Given the description of an element on the screen output the (x, y) to click on. 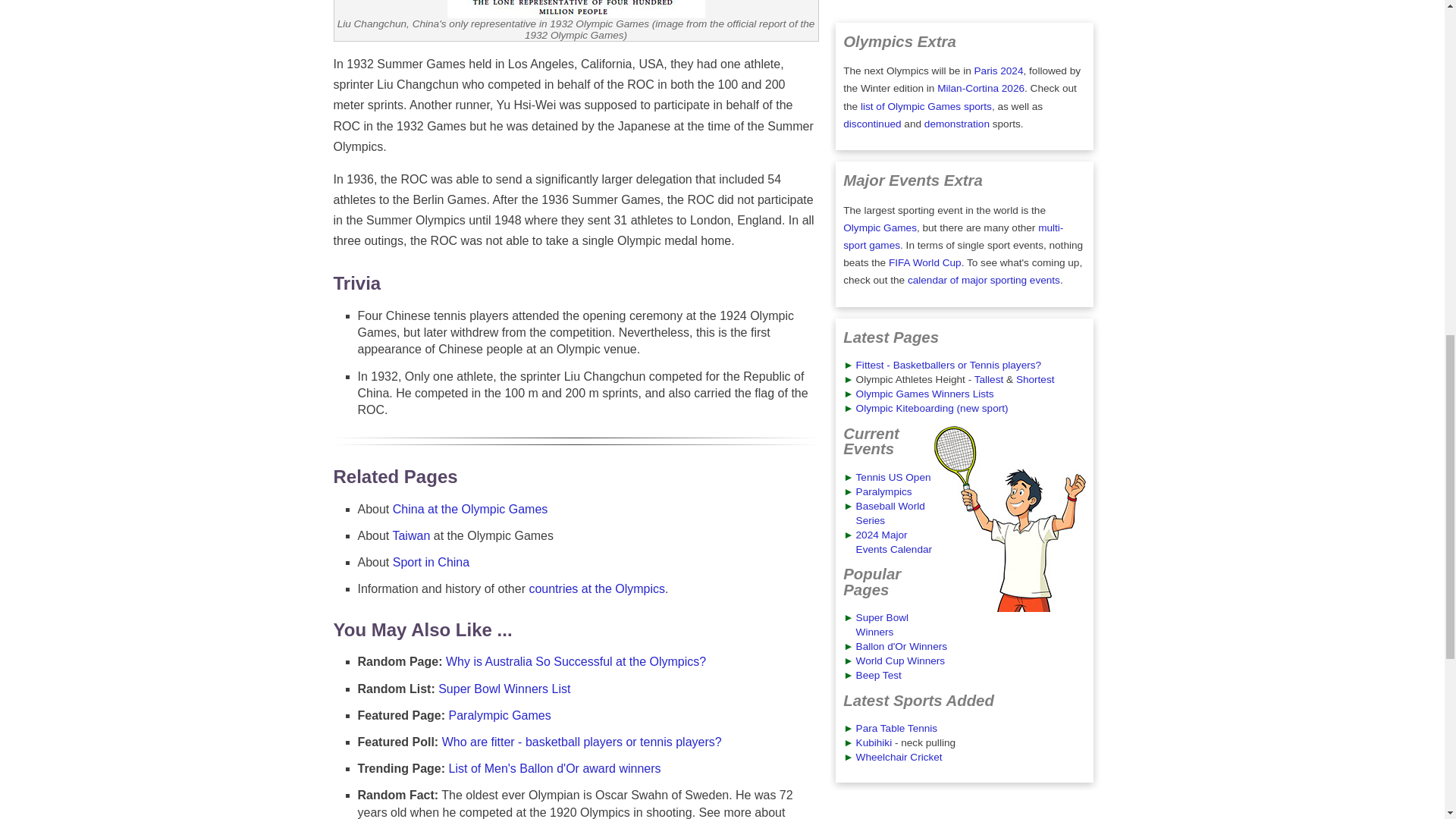
Sport in China (430, 562)
Who are fitter - basketball players or tennis players? (582, 741)
countries at the Olympics (596, 588)
Super Bowl Winners List (504, 688)
List of Men's Ballon d'Or award winners (554, 768)
Taiwan (410, 535)
China at the Olympic Games (470, 508)
Why is Australia So Successful at the Olympics? (575, 661)
Paralympic Games (499, 715)
